Given the description of an element on the screen output the (x, y) to click on. 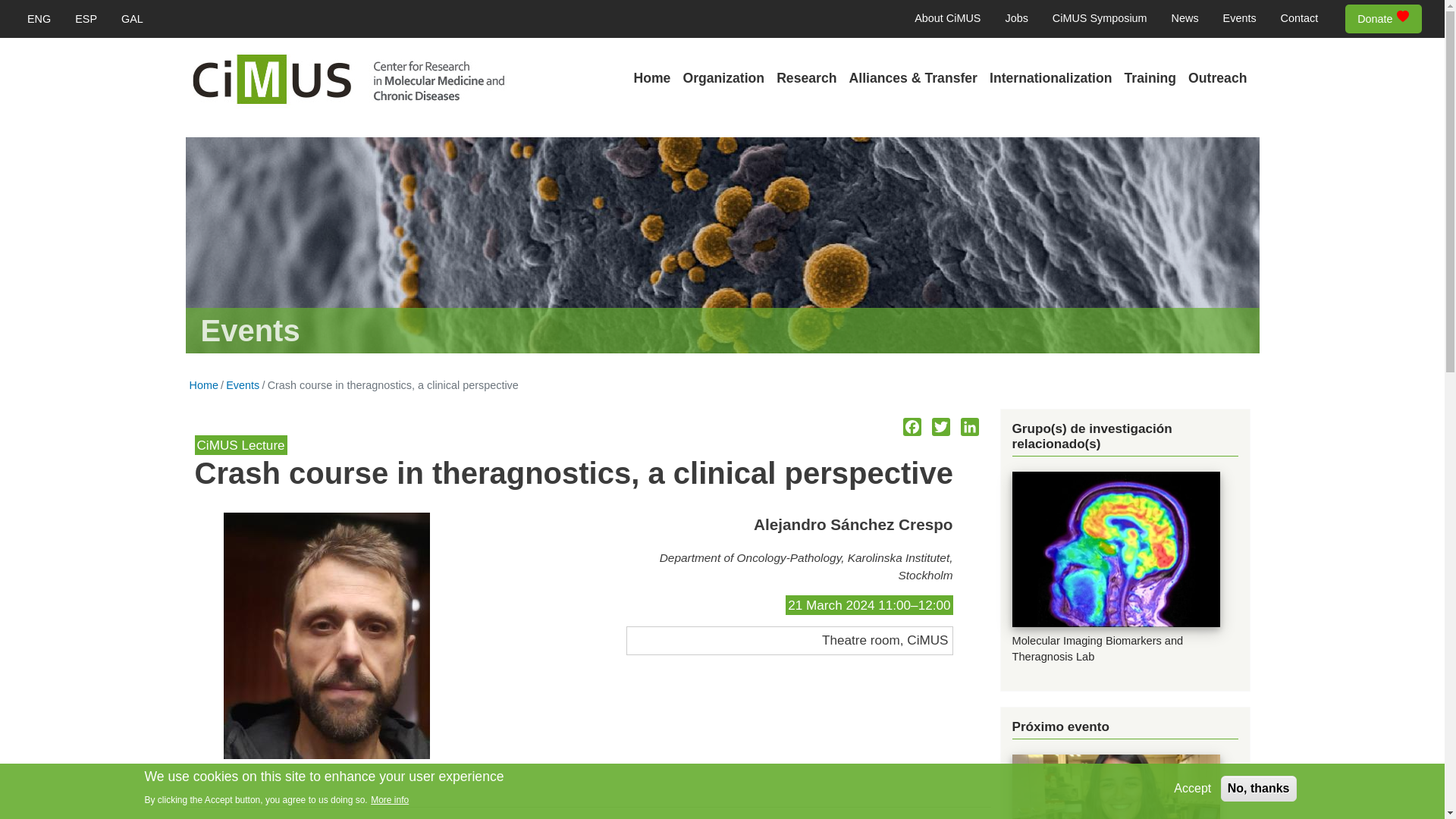
Events (1239, 18)
Home (347, 80)
CiMUS Symposium (1099, 18)
Donate (1383, 19)
News (1184, 18)
GAL (131, 19)
ESP (86, 19)
Contact (1299, 18)
About CiMUS (947, 18)
ENG (38, 19)
Jobs (1015, 18)
Home (652, 79)
